Given the description of an element on the screen output the (x, y) to click on. 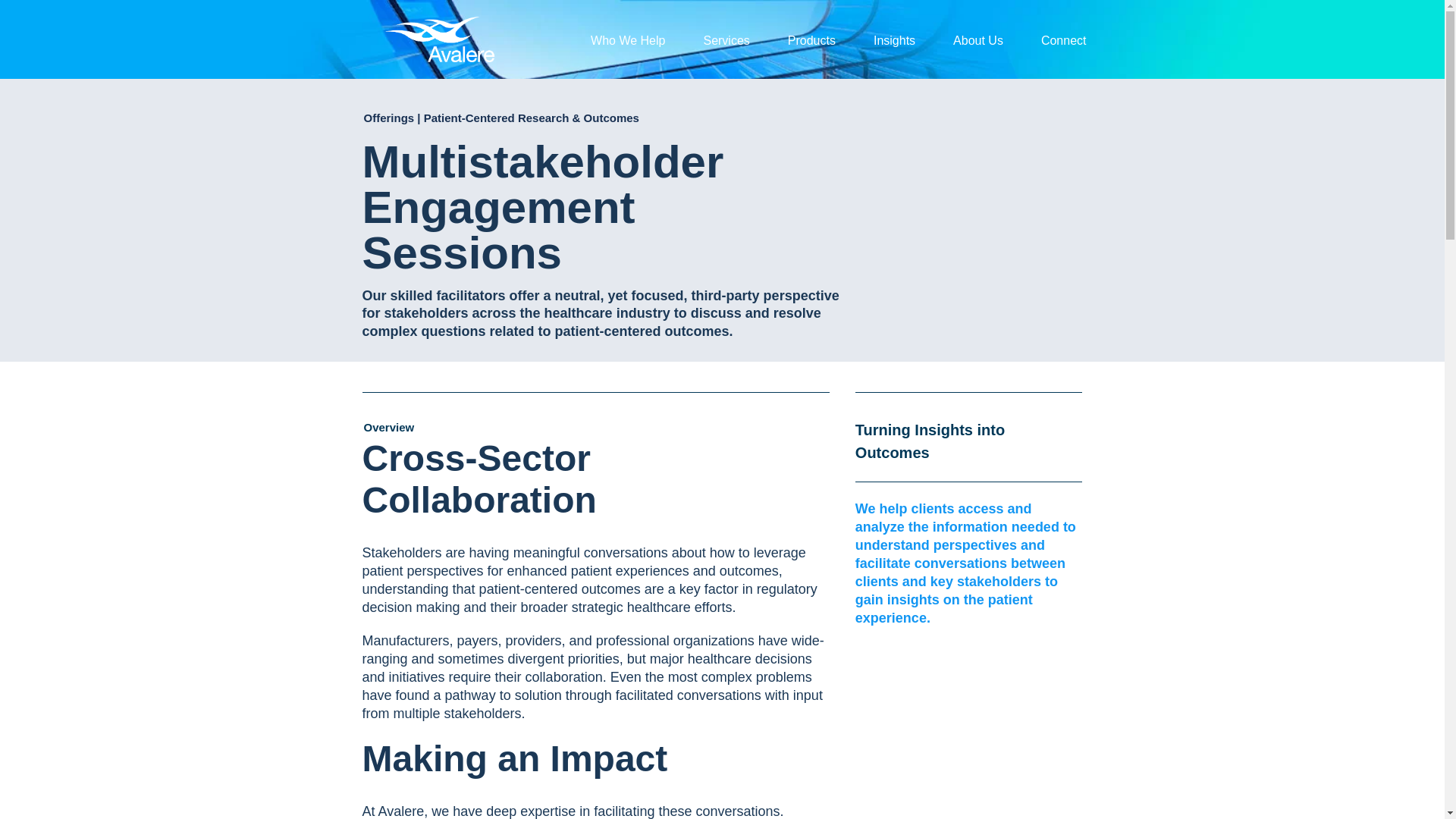
Insights (894, 39)
Products (811, 39)
About Us (978, 39)
Connect (1063, 39)
Avalere (442, 39)
Who We Help (628, 39)
Services (726, 39)
